Given the description of an element on the screen output the (x, y) to click on. 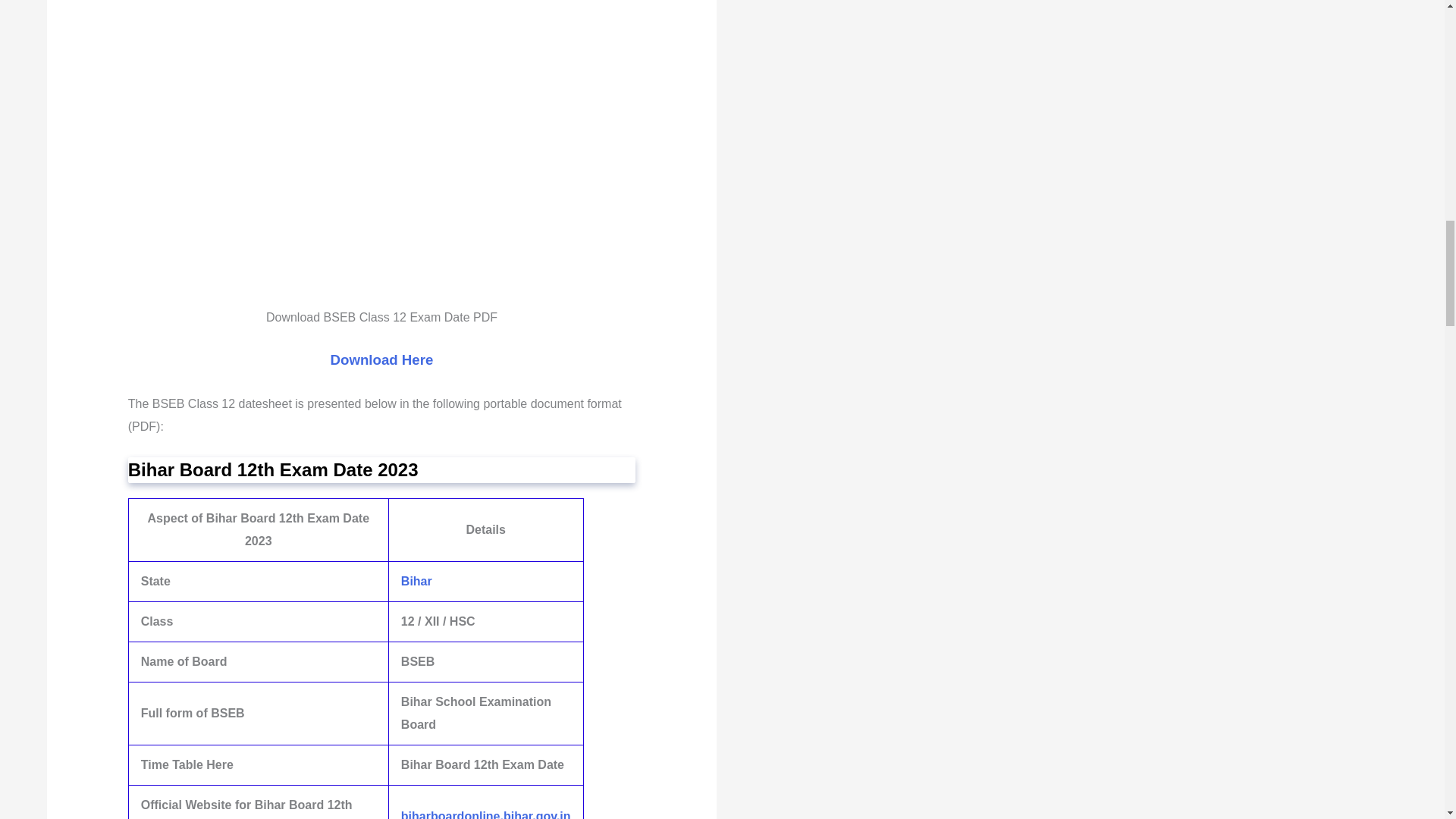
Bihar (416, 581)
Download Here (381, 359)
biharboardonline.bihar.gov.in (485, 814)
